Given the description of an element on the screen output the (x, y) to click on. 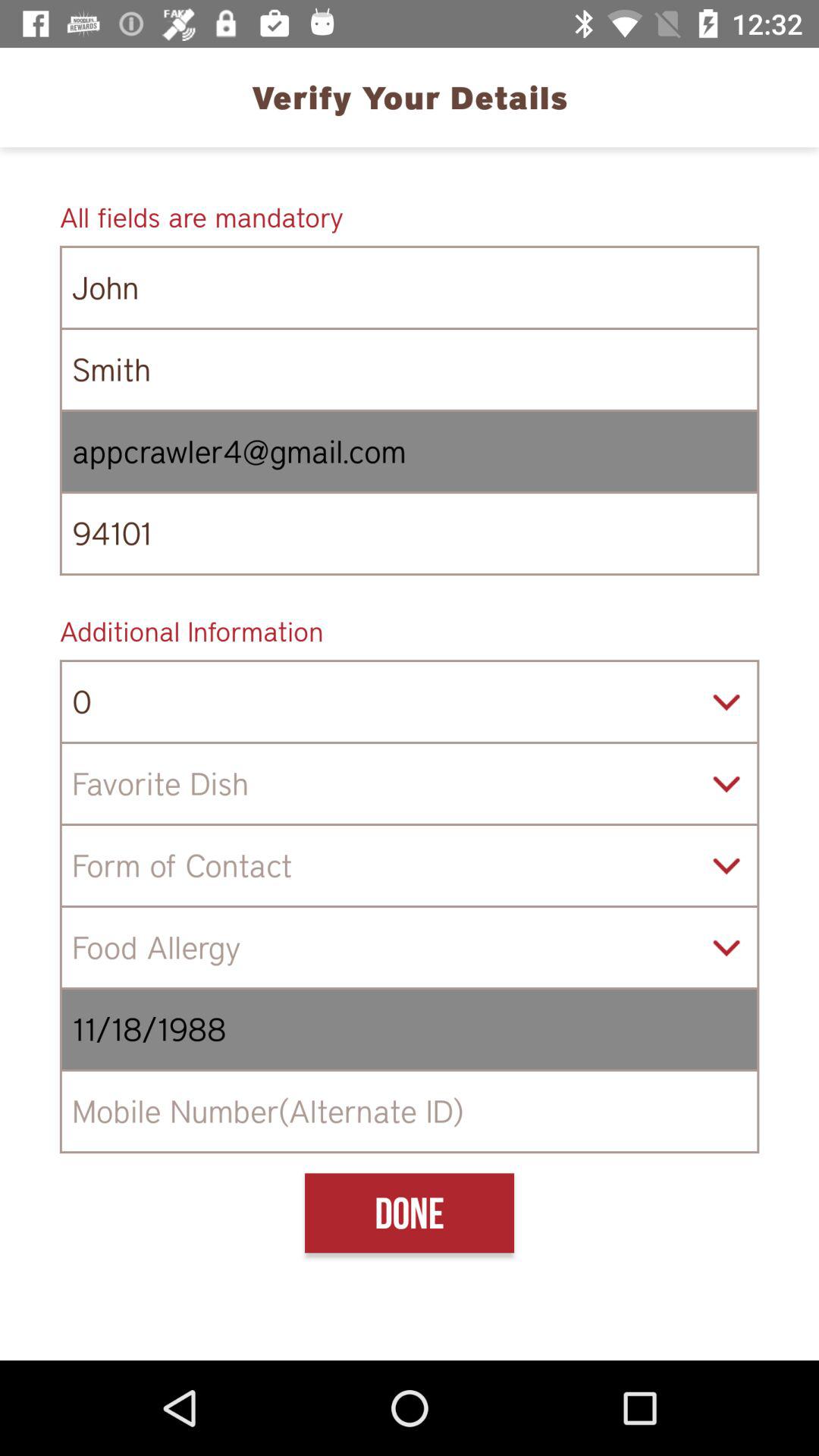
turn on additional information (409, 631)
